Given the description of an element on the screen output the (x, y) to click on. 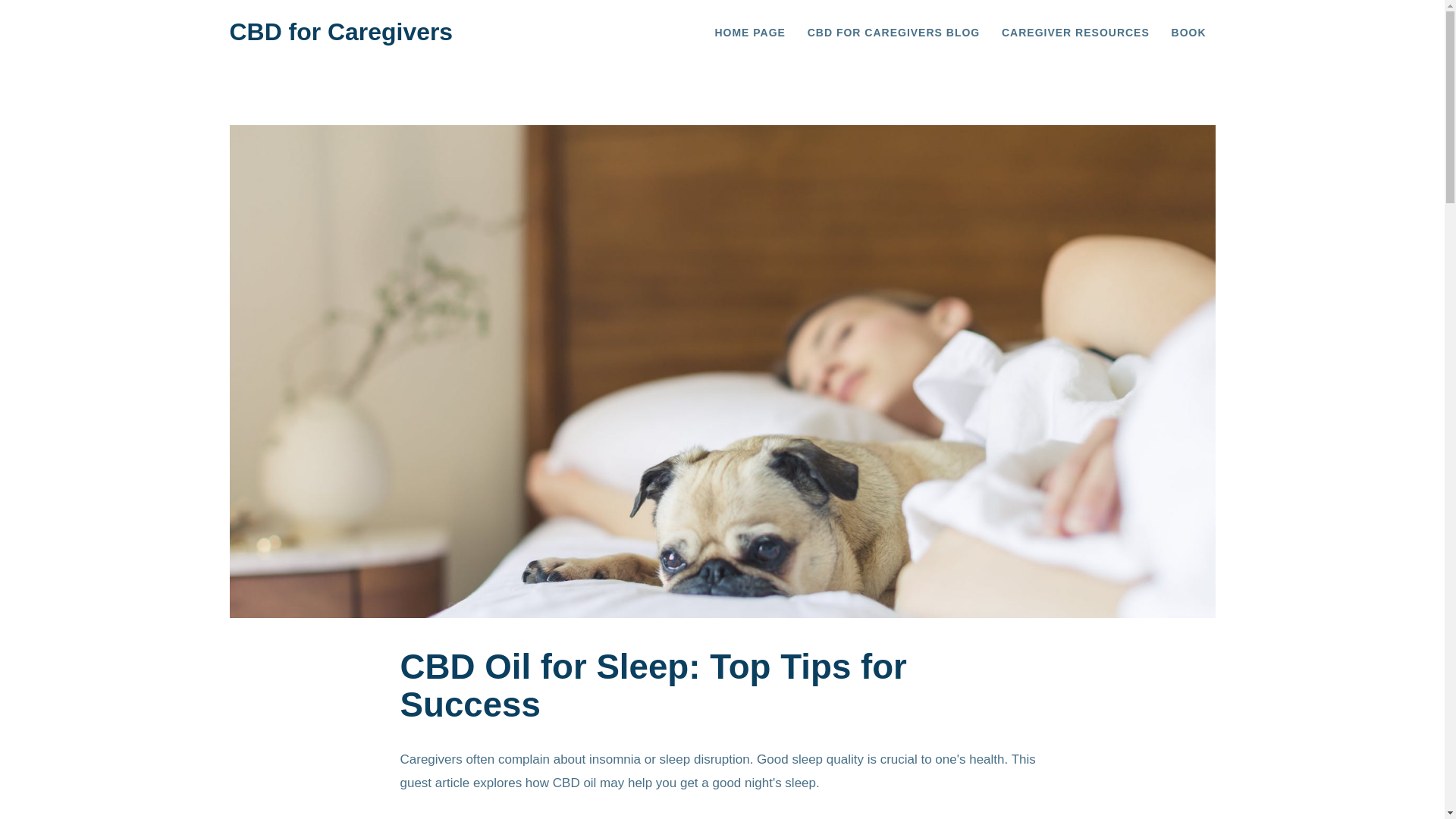
CBD for Caregivers (340, 31)
BOOK (1188, 32)
HOME PAGE (749, 32)
CBD FOR CAREGIVERS BLOG (893, 32)
CAREGIVER RESOURCES (1075, 32)
